Given the description of an element on the screen output the (x, y) to click on. 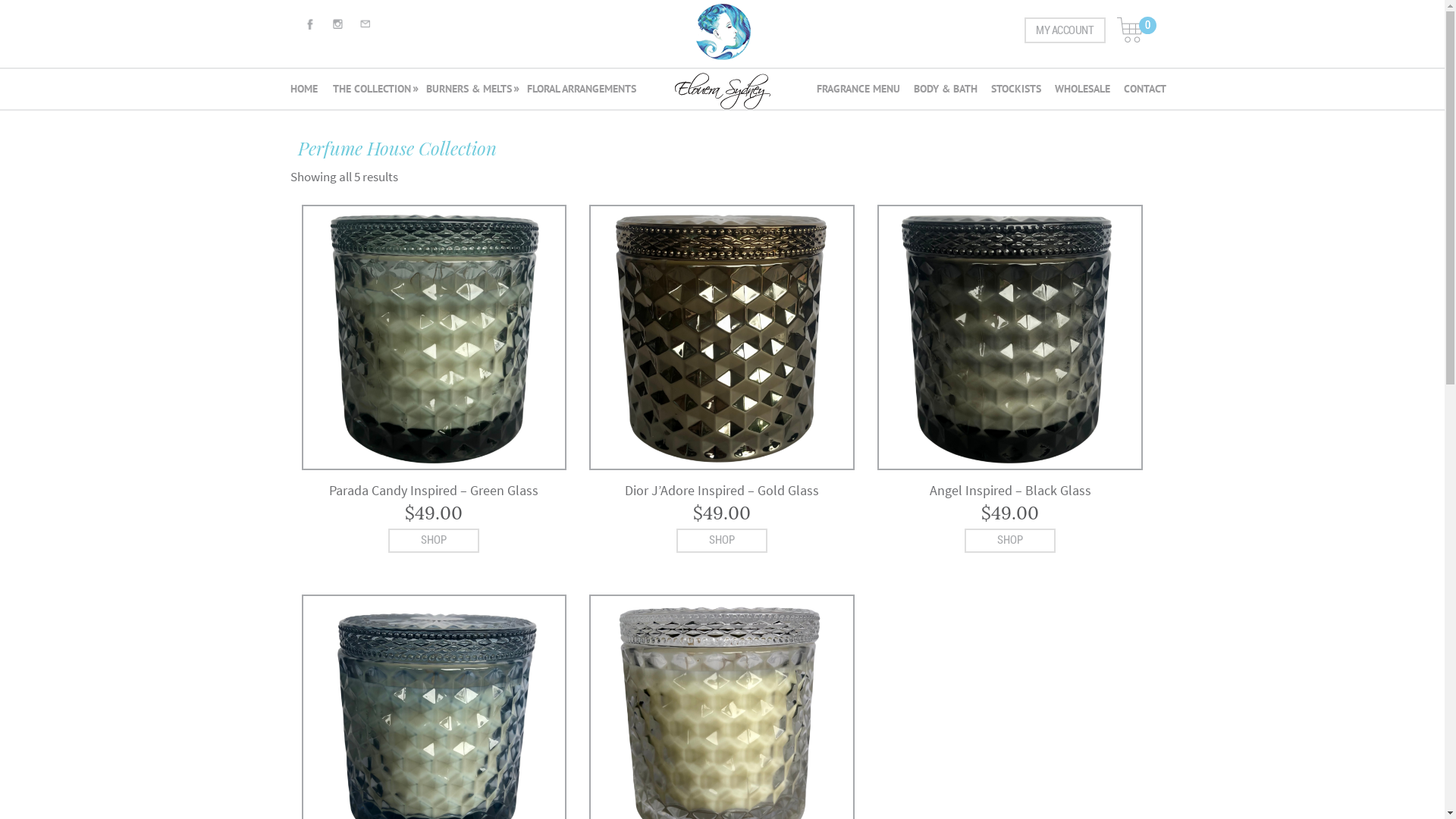
BODY & BATH Element type: text (944, 90)
SHOP Element type: text (433, 540)
THE COLLECTION Element type: text (371, 90)
STOCKISTS Element type: text (1015, 90)
SHOP Element type: text (721, 540)
HOME Element type: text (304, 90)
FRAGRANCE MENU Element type: text (858, 90)
0 Element type: text (1129, 29)
BURNERS & MELTS Element type: text (467, 90)
CONTACT Element type: text (1143, 90)
SHOP Element type: text (1009, 540)
MY ACCOUNT Element type: text (1063, 30)
FLORAL ARRANGEMENTS Element type: text (579, 90)
WHOLESALE Element type: text (1081, 90)
